Given the description of an element on the screen output the (x, y) to click on. 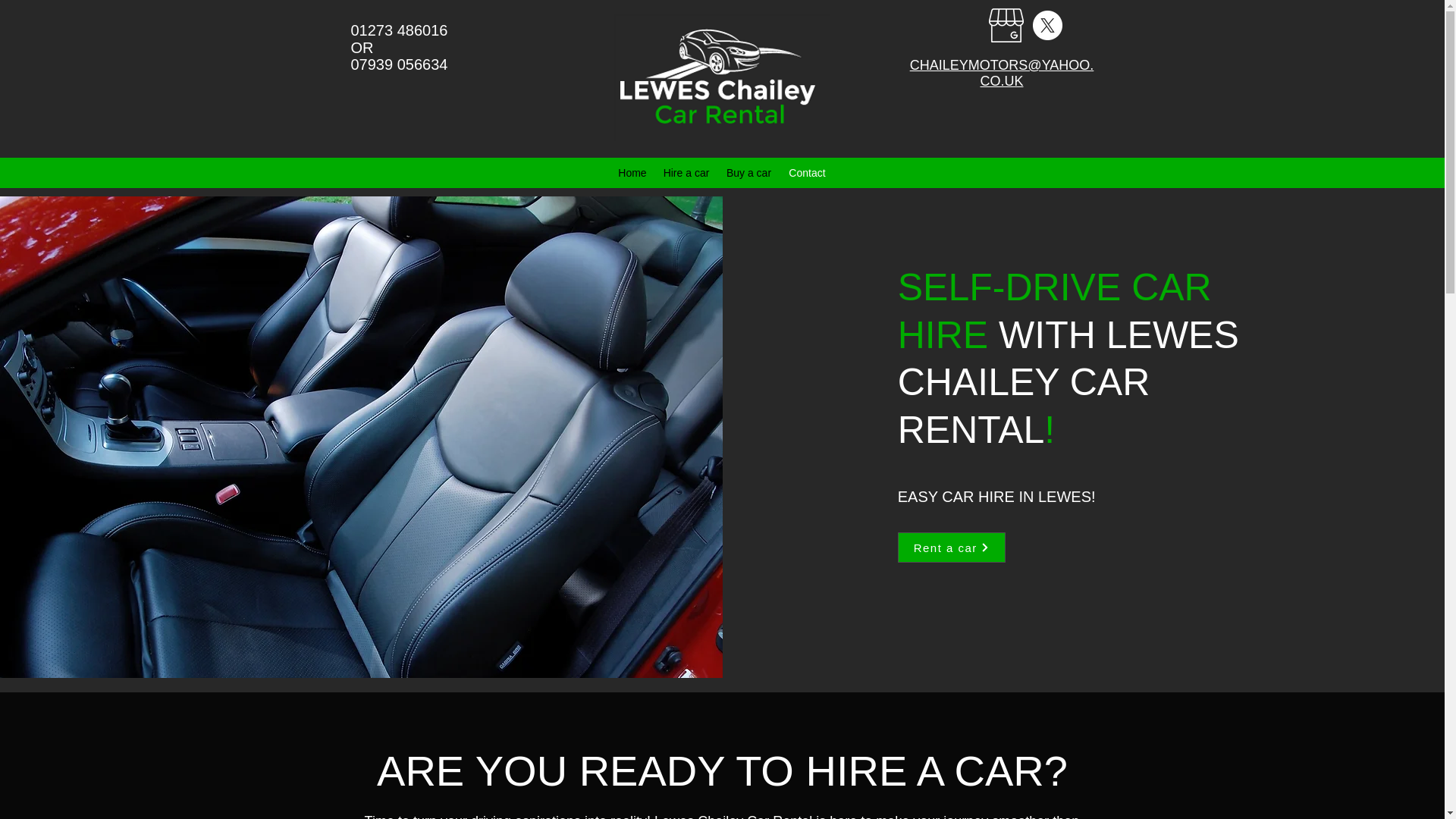
google my business (1005, 25)
Rent a car (952, 547)
Buy a car (747, 172)
Contact (806, 172)
Hire a car (685, 172)
Home (631, 172)
Lewes Chailey Car Rental (721, 77)
Lewes Chailey Car Rental (734, 816)
